Given the description of an element on the screen output the (x, y) to click on. 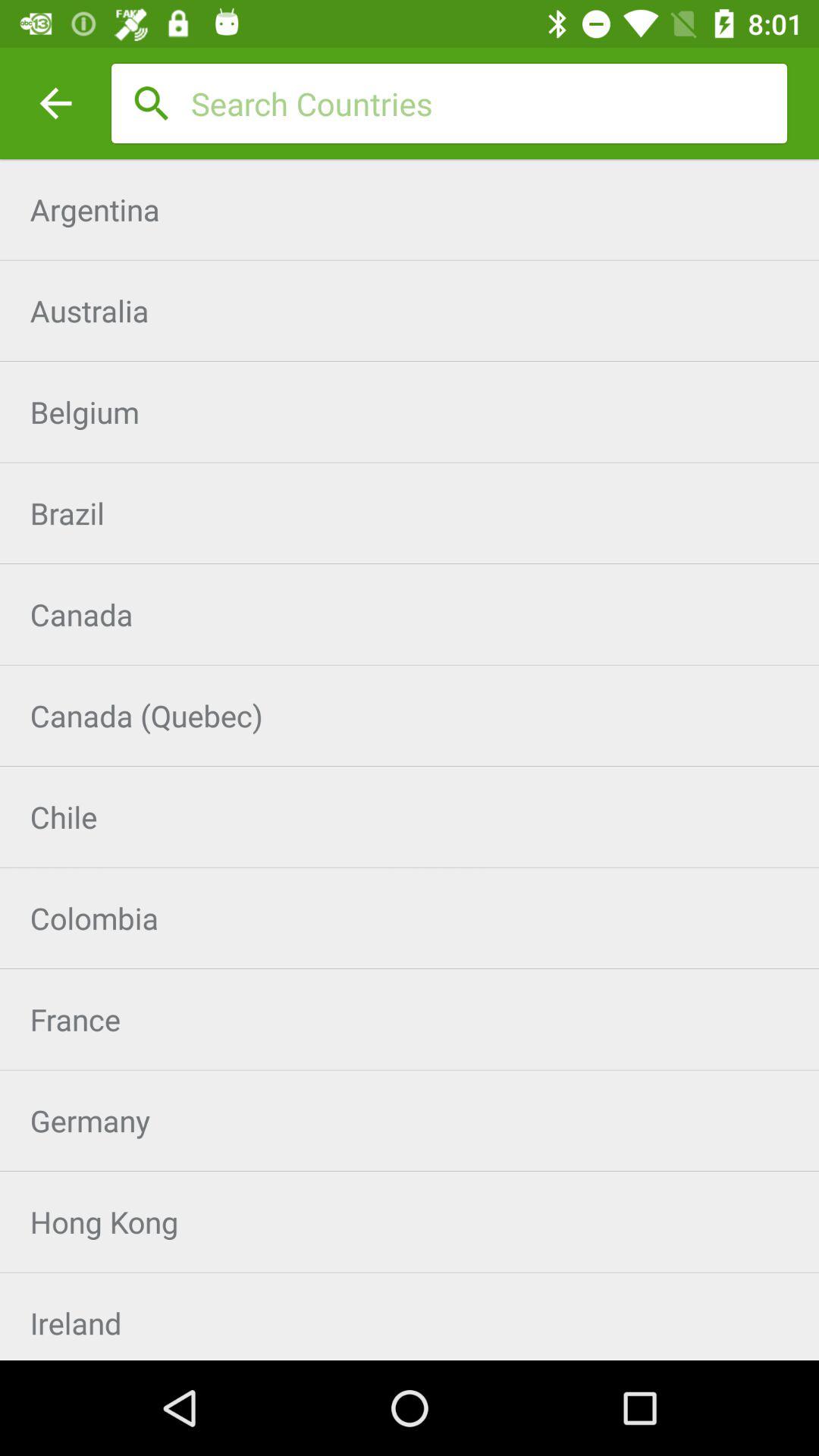
select the item above colombia (409, 816)
